Given the description of an element on the screen output the (x, y) to click on. 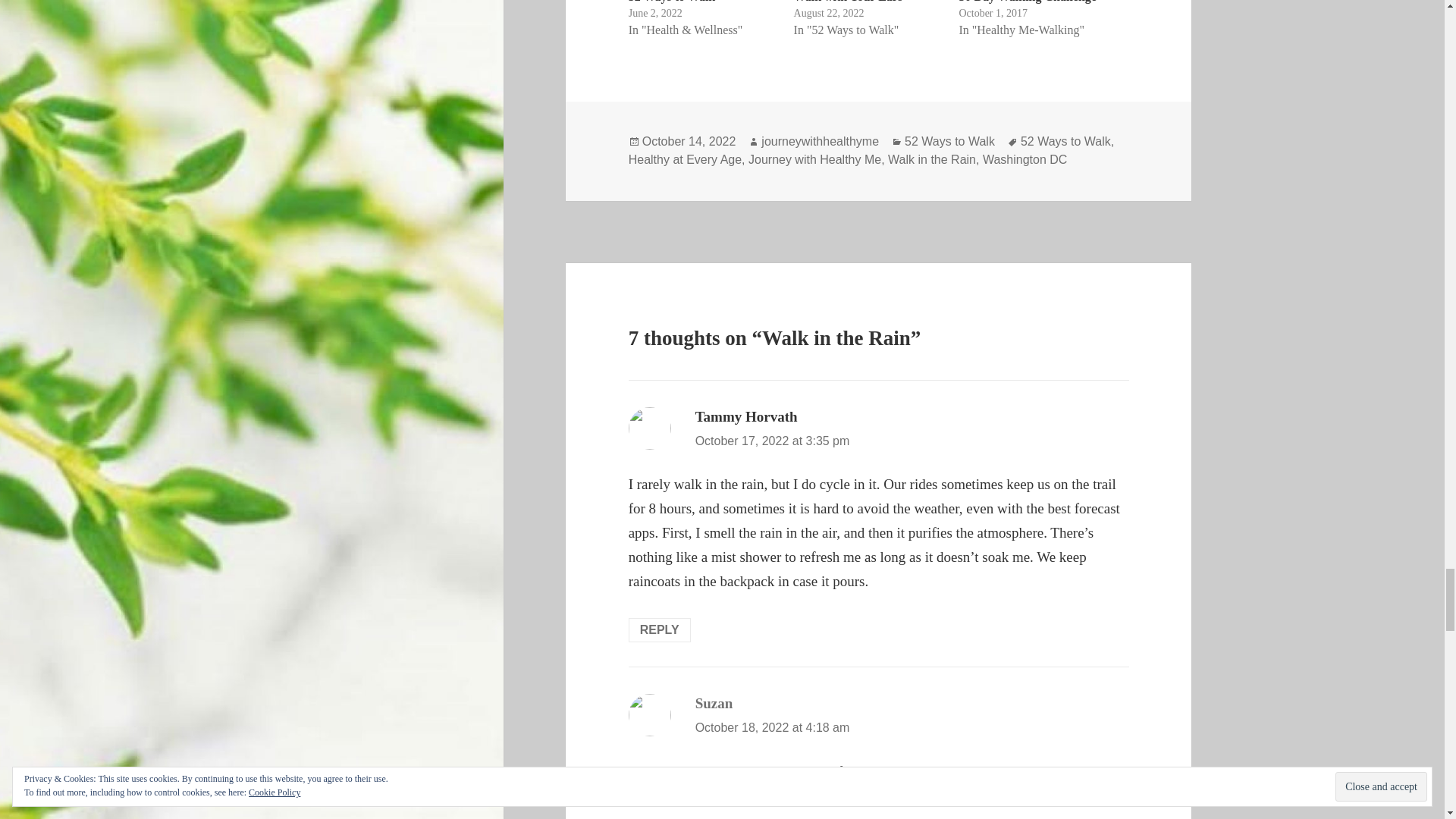
Walk with Your Ears (847, 1)
30 Day Walking Challenge (1027, 1)
52 Ways to Walk (672, 1)
